Given the description of an element on the screen output the (x, y) to click on. 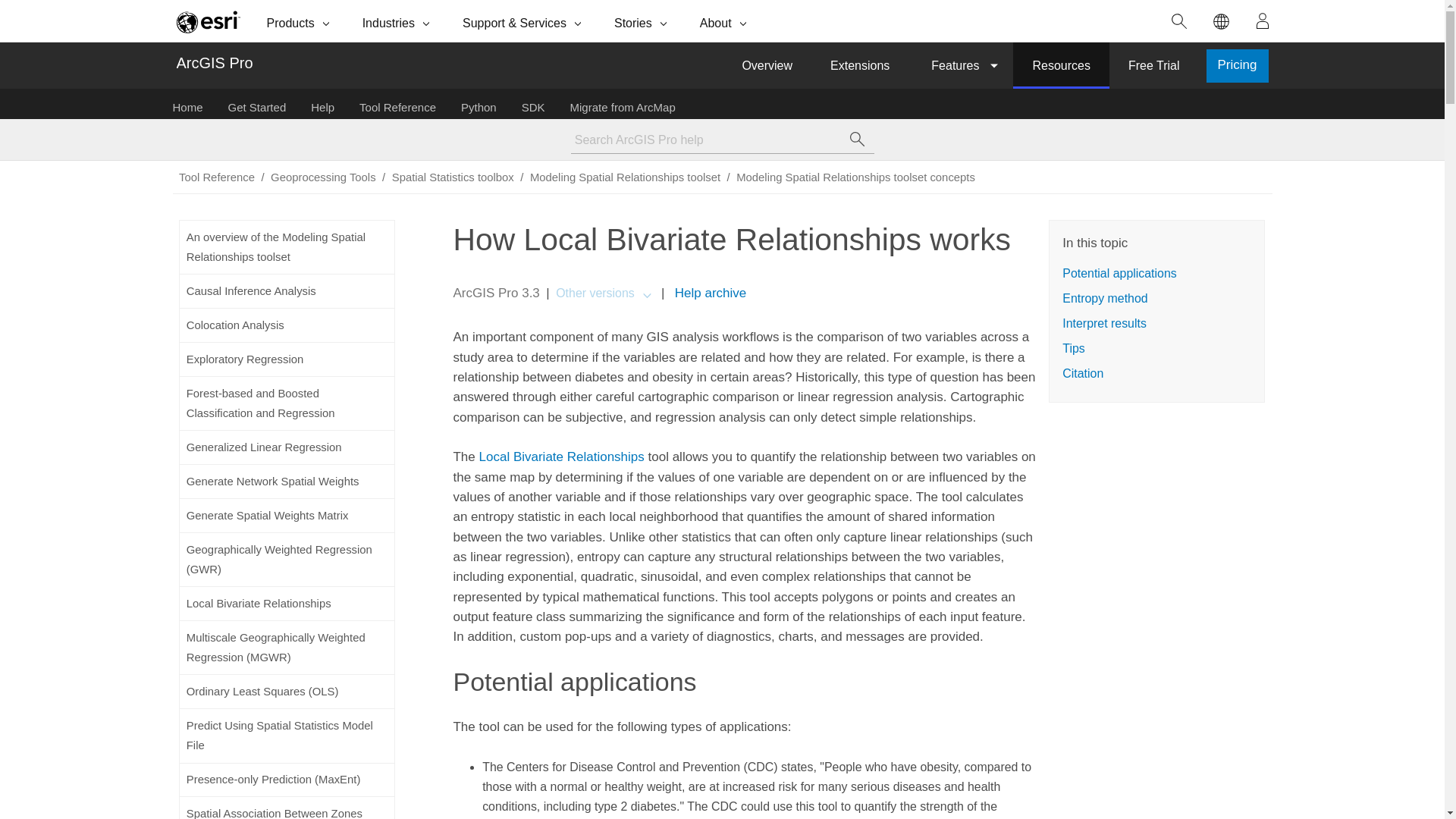
Esri home page (208, 21)
Industries (396, 20)
Sign In (1262, 20)
Products (299, 20)
Search (1178, 20)
Esri home page (208, 21)
Switch Language (1220, 20)
Esri home page (208, 21)
